Given the description of an element on the screen output the (x, y) to click on. 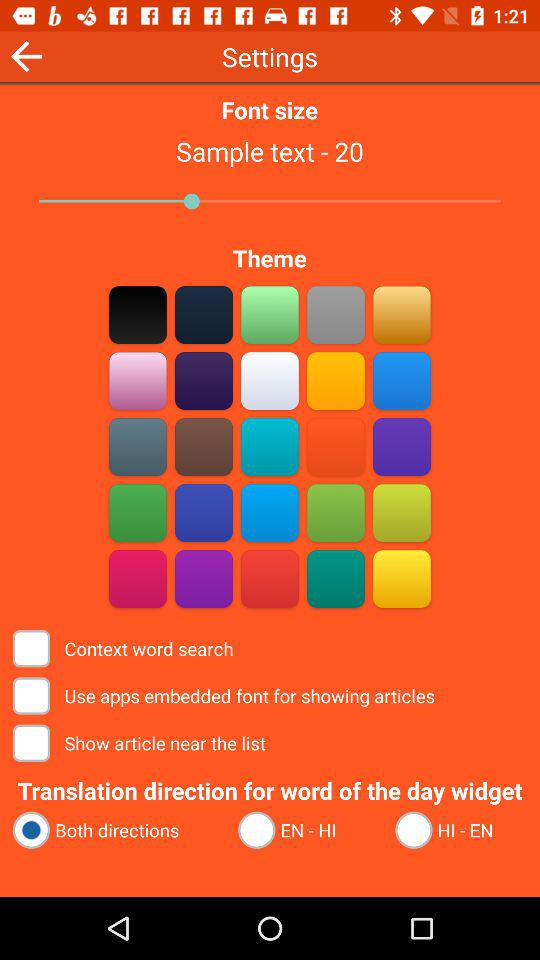
change theme color (203, 446)
